Given the description of an element on the screen output the (x, y) to click on. 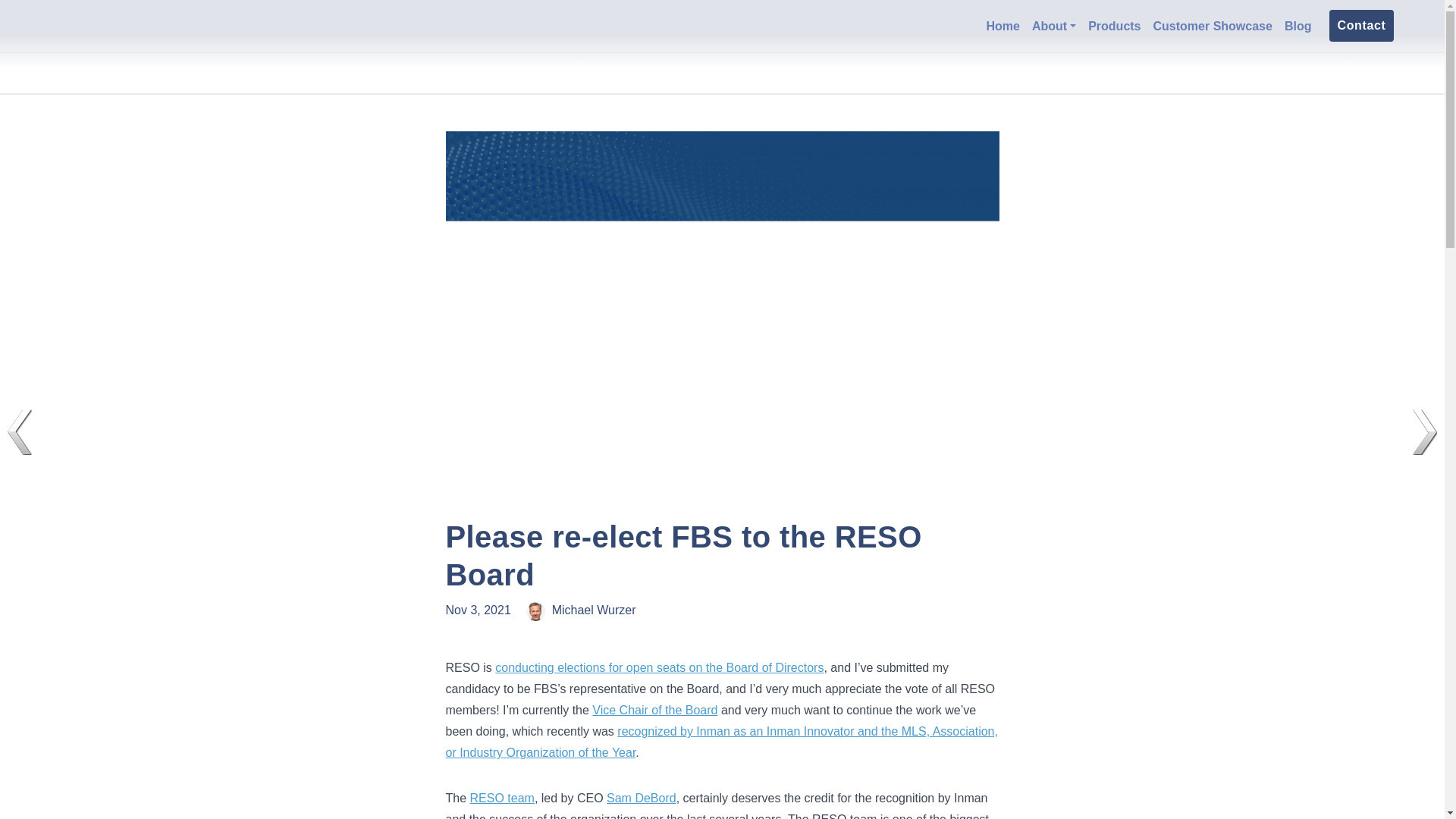
About (1053, 26)
Vice Chair of the Board (654, 709)
Home (1002, 26)
Contact (1361, 25)
Blog (1297, 26)
RESO team (502, 797)
Customer Showcase (1212, 26)
Products (1114, 26)
Sam DeBord (642, 797)
